Given the description of an element on the screen output the (x, y) to click on. 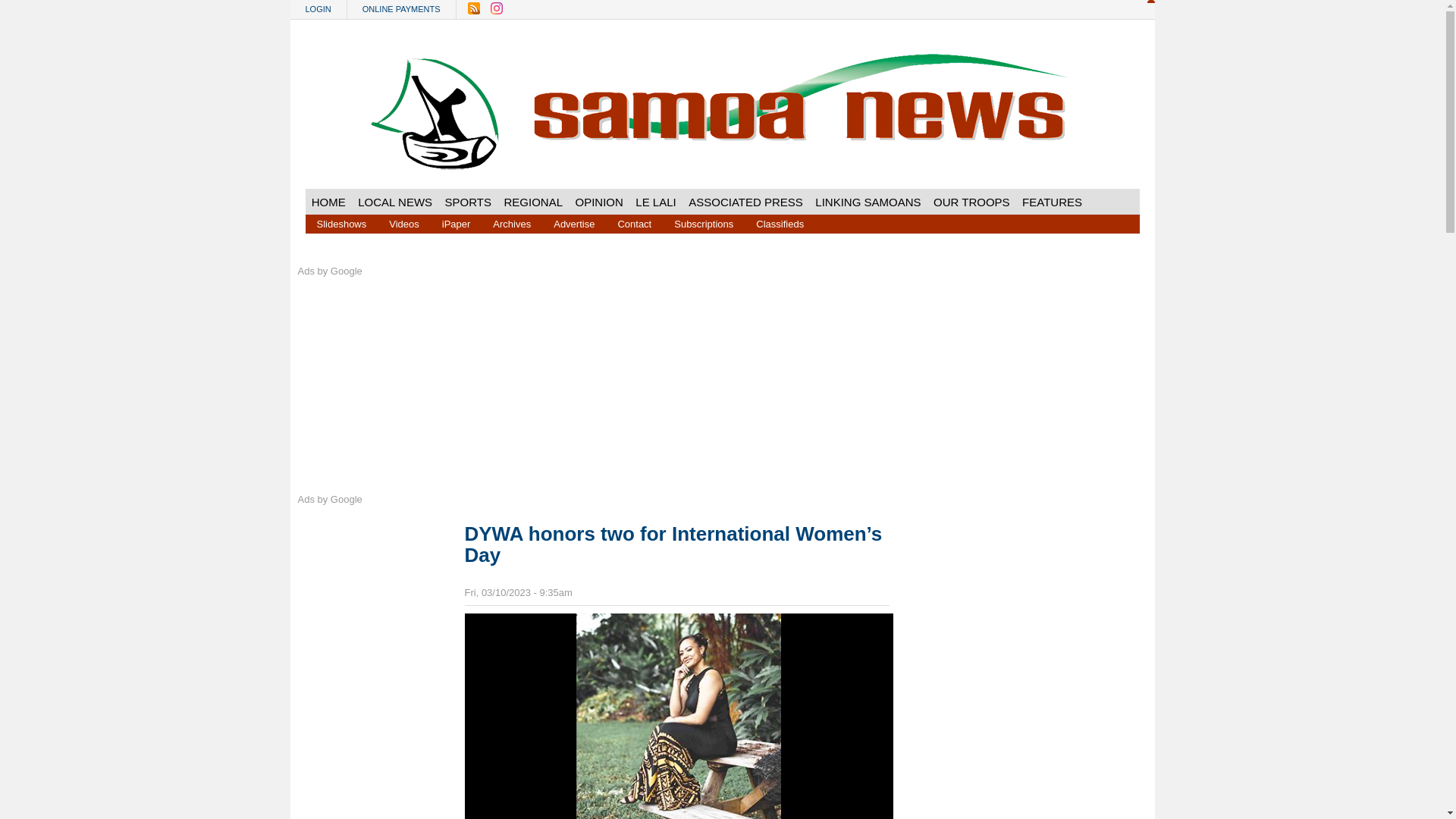
REGIONAL (533, 202)
SPORTS (467, 202)
OPINION (598, 202)
FEATURES (1051, 202)
ONLINE PAYMENTS (402, 9)
Contact (633, 223)
Sports (467, 202)
Features (1051, 202)
Subscriptions (703, 223)
LOCAL NEWS (395, 202)
